Given the description of an element on the screen output the (x, y) to click on. 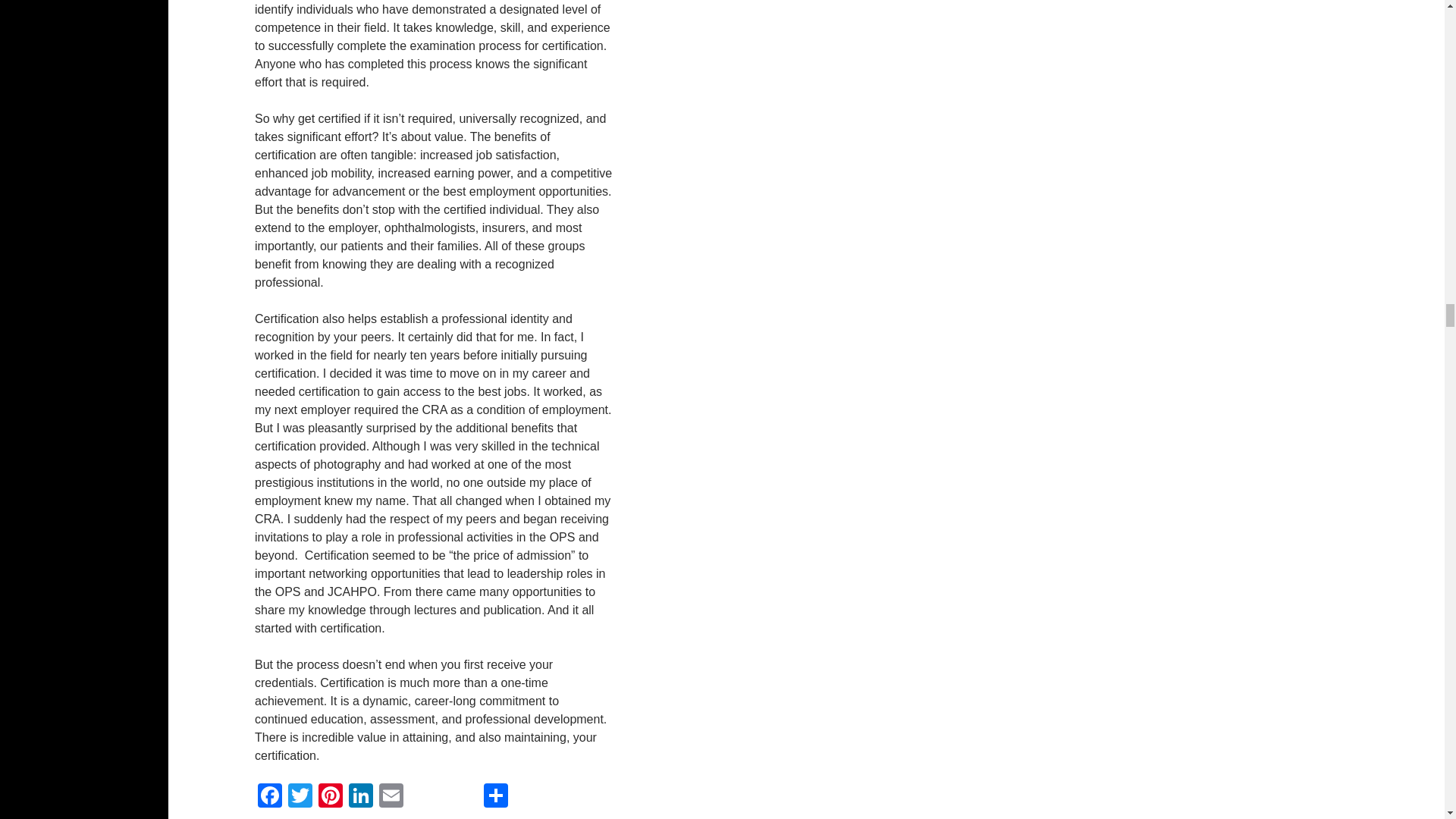
Pinterest (330, 796)
LinkedIn (360, 796)
Email (390, 796)
Facebook (269, 796)
Twitter (300, 796)
